Given the description of an element on the screen output the (x, y) to click on. 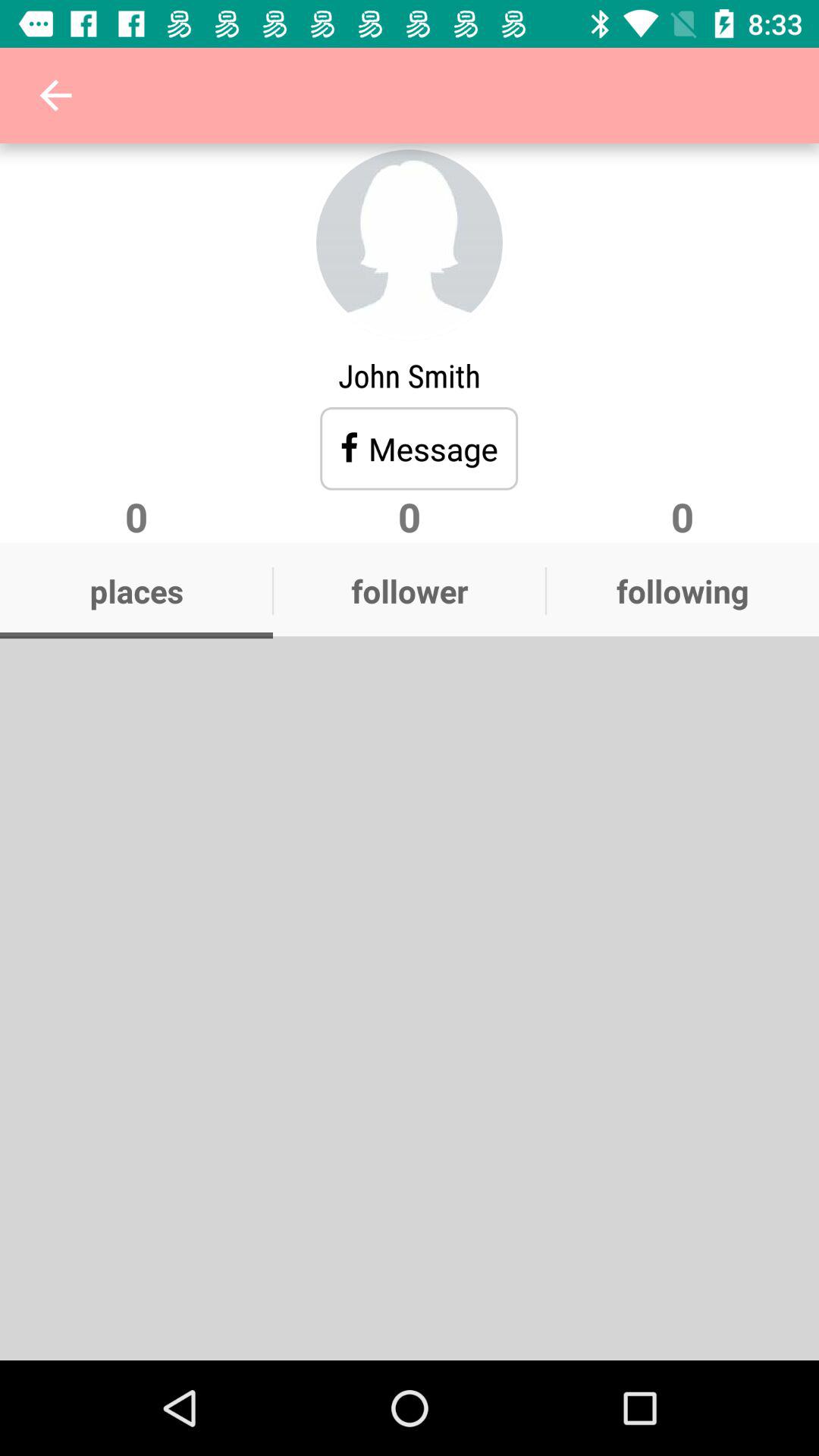
launch the app to the left of the follower item (136, 590)
